Given the description of an element on the screen output the (x, y) to click on. 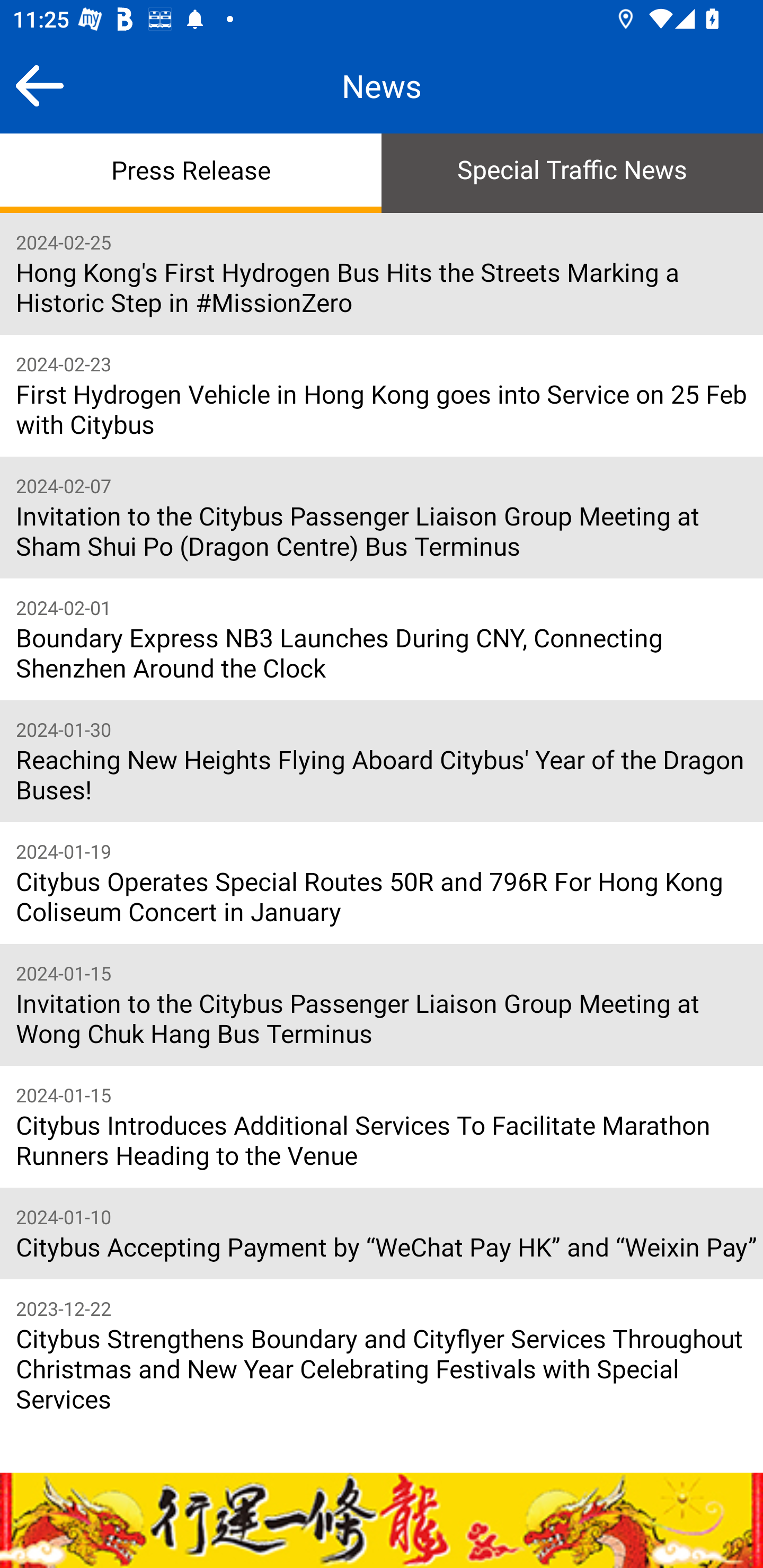
Back (39, 85)
Press Release selected (190, 171)
Special Traffic News (572, 171)
Lunar New Year 2024 (381, 1520)
